Given the description of an element on the screen output the (x, y) to click on. 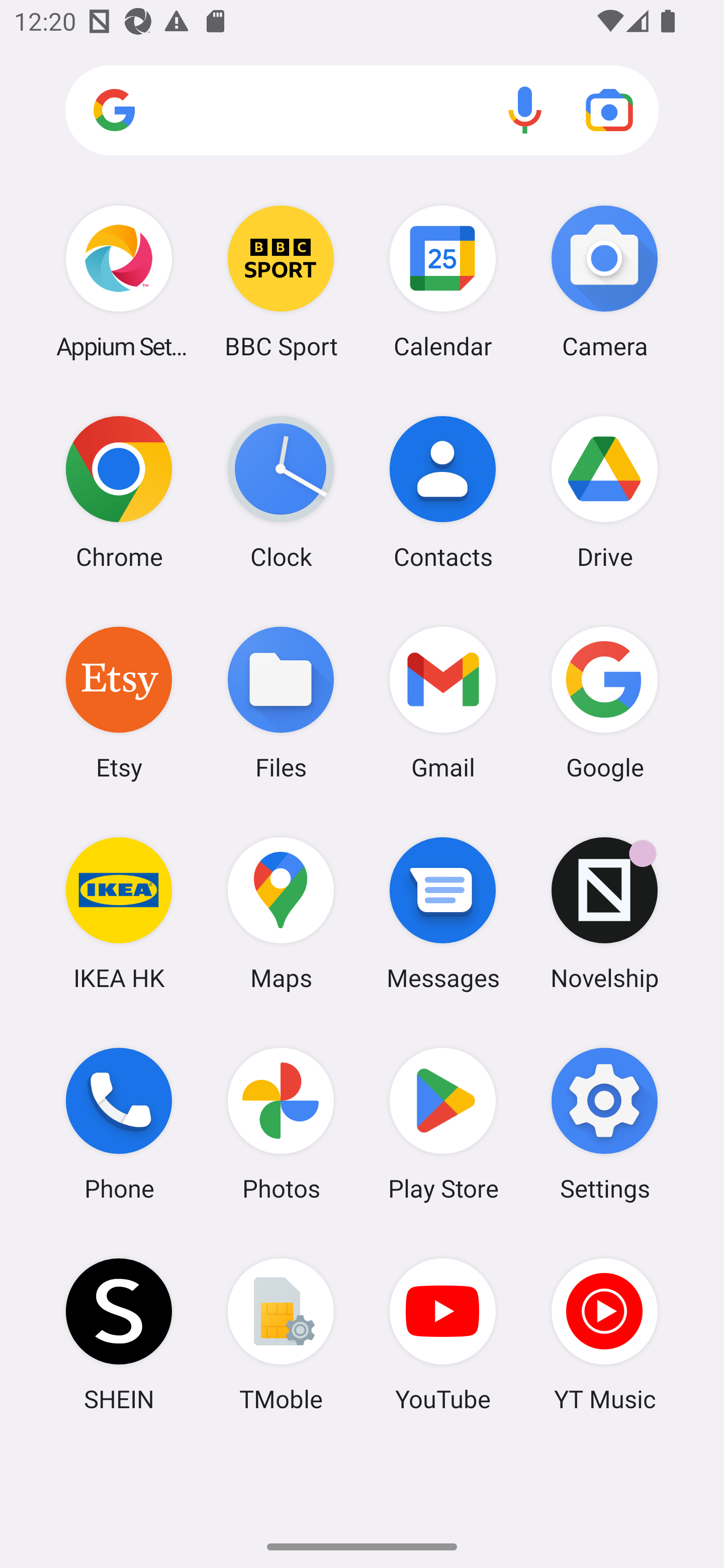
Search apps, web and more (361, 110)
Voice search (524, 109)
Google Lens (608, 109)
Appium Settings (118, 281)
BBC Sport (280, 281)
Calendar (443, 281)
Camera (604, 281)
Chrome (118, 492)
Clock (280, 492)
Contacts (443, 492)
Drive (604, 492)
Etsy (118, 702)
Files (280, 702)
Gmail (443, 702)
Google (604, 702)
IKEA HK (118, 913)
Maps (280, 913)
Messages (443, 913)
Novelship Novelship has 7 notifications (604, 913)
Phone (118, 1124)
Photos (280, 1124)
Play Store (443, 1124)
Settings (604, 1124)
SHEIN (118, 1334)
TMoble (280, 1334)
YouTube (443, 1334)
YT Music (604, 1334)
